Given the description of an element on the screen output the (x, y) to click on. 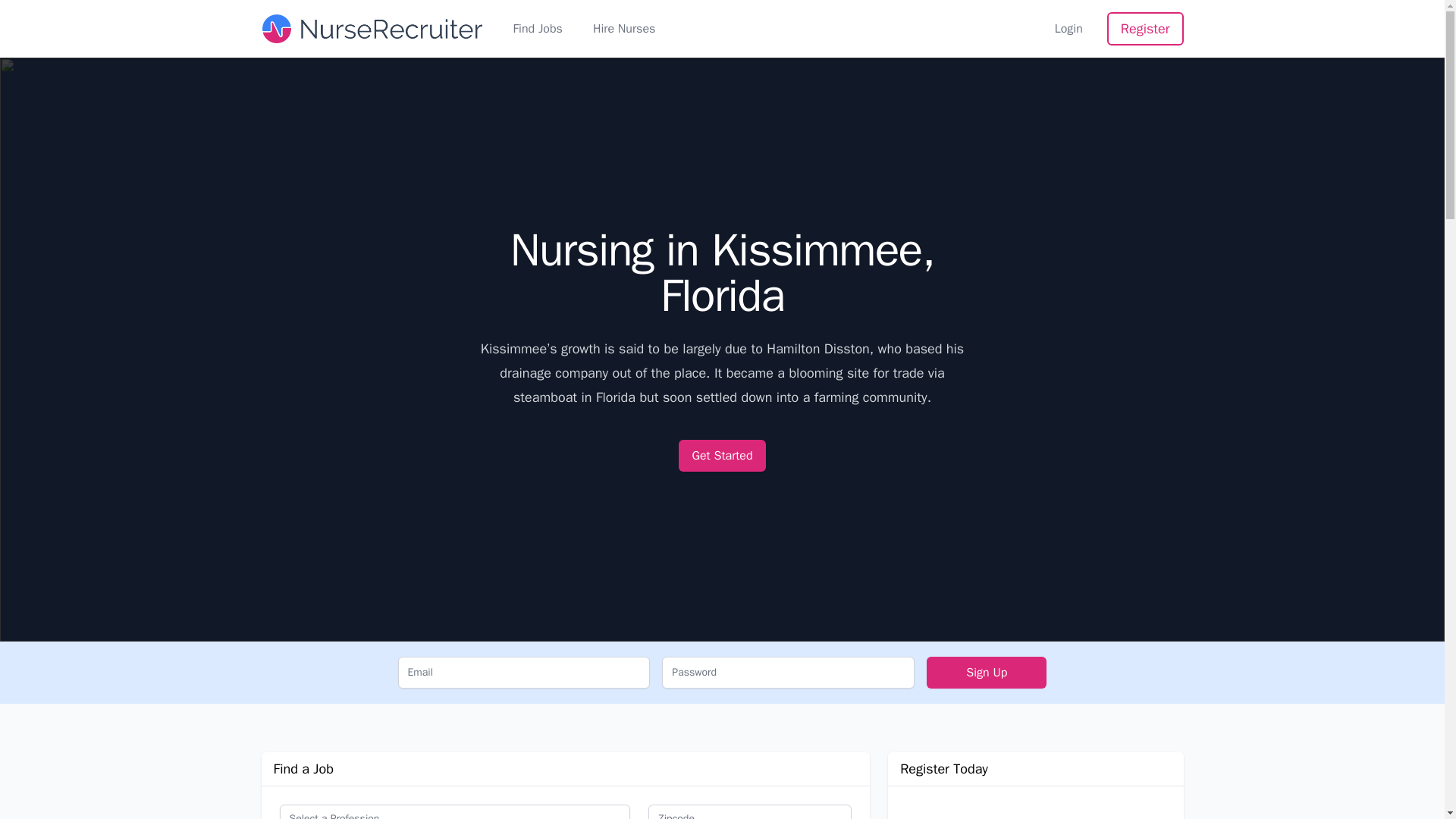
Find Jobs (537, 28)
Register (1144, 28)
Hire Nurses (623, 28)
Get Started (721, 455)
Sign Up (986, 672)
Login (1068, 28)
